Given the description of an element on the screen output the (x, y) to click on. 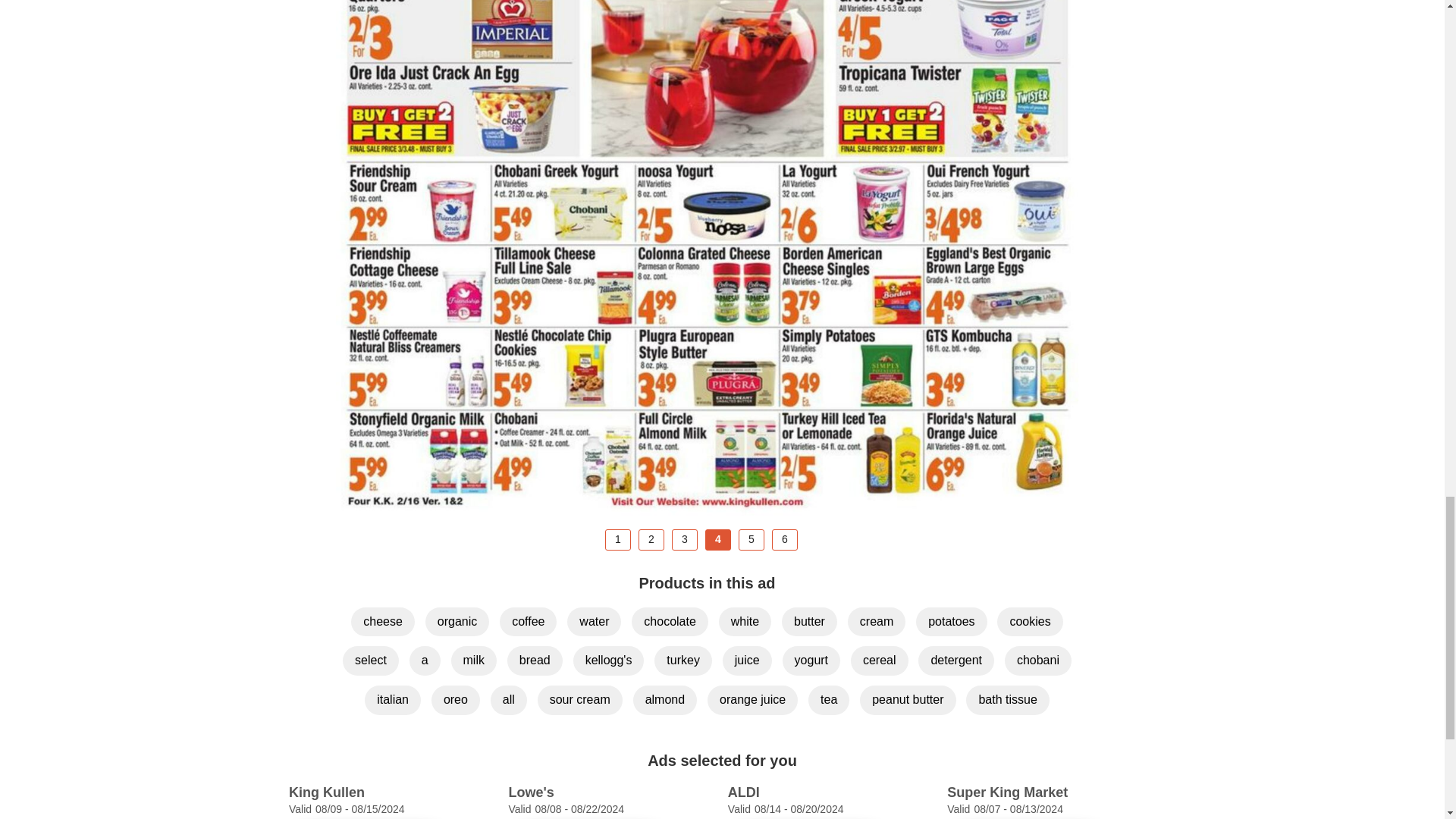
potatoes (951, 622)
a (425, 660)
detergent (956, 660)
juice (746, 660)
6 (784, 539)
cookies (1029, 622)
organic (457, 622)
cereal (879, 660)
select (370, 660)
turkey (682, 660)
